Given the description of an element on the screen output the (x, y) to click on. 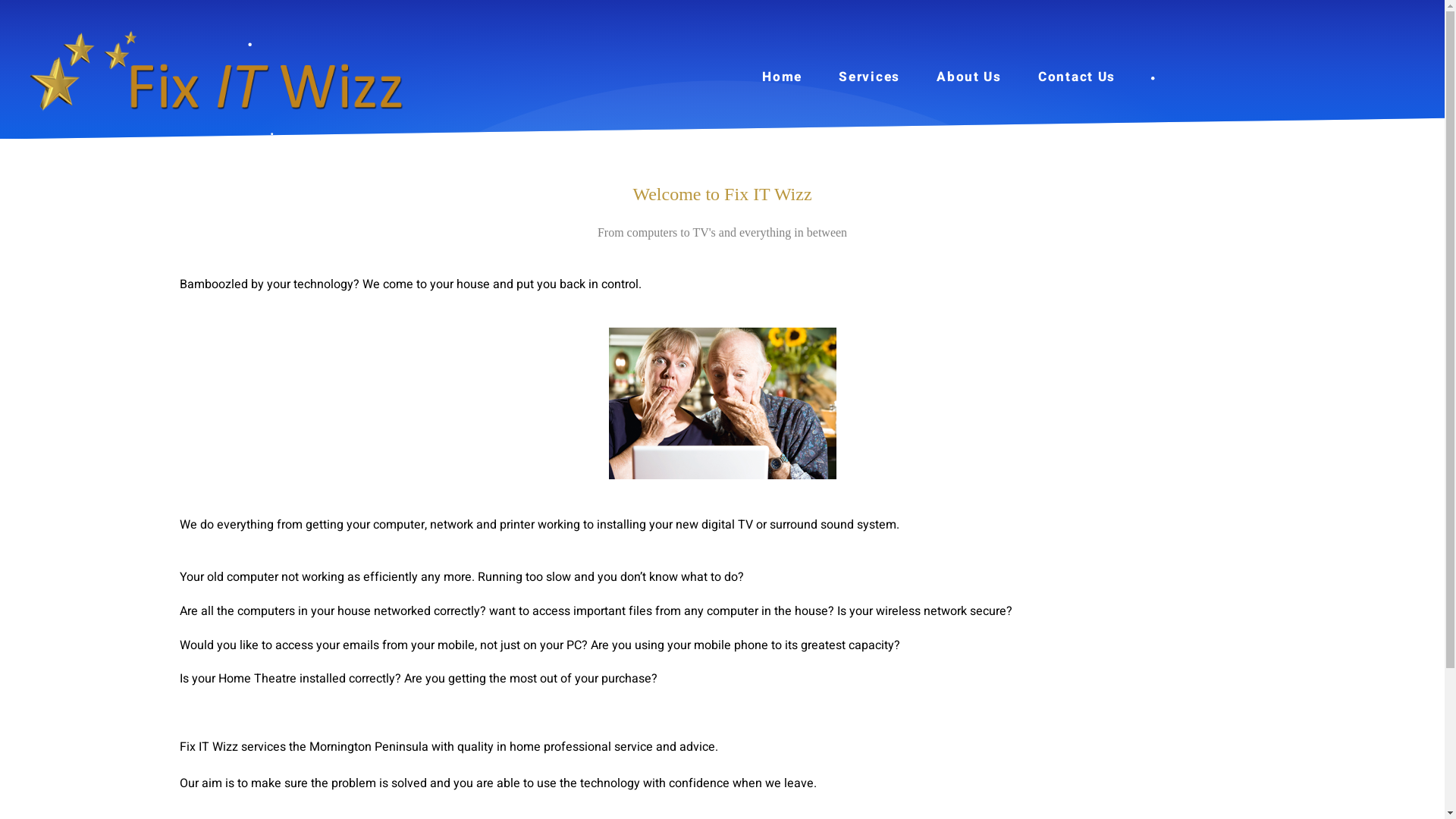
Home Element type: text (781, 76)
Services Element type: text (869, 76)
Contact Us Element type: text (1076, 76)
About Us Element type: text (968, 76)
